Given the description of an element on the screen output the (x, y) to click on. 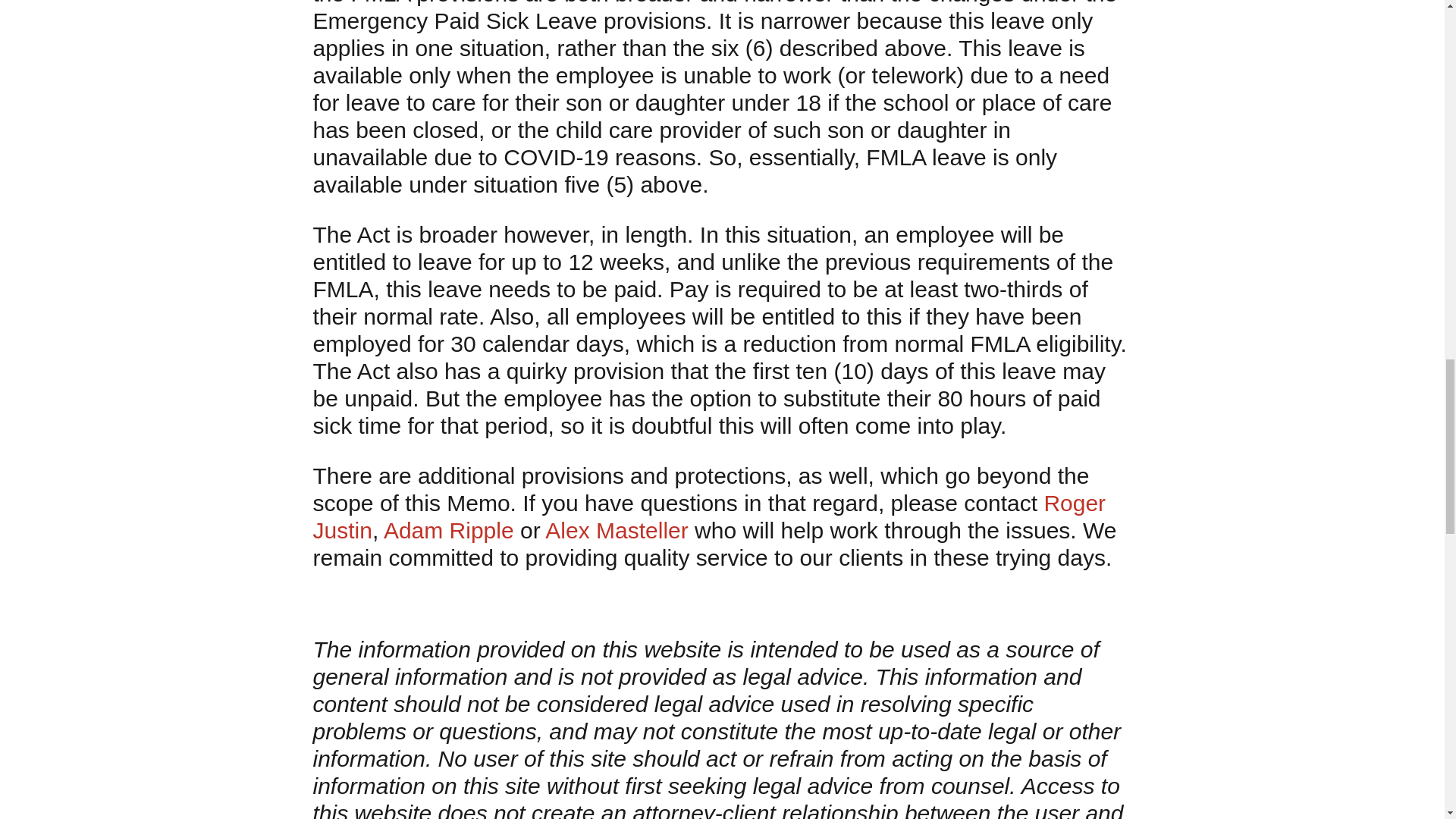
Adam Ripple (448, 529)
Alex Masteller (615, 529)
Roger Justin (709, 516)
